Given the description of an element on the screen output the (x, y) to click on. 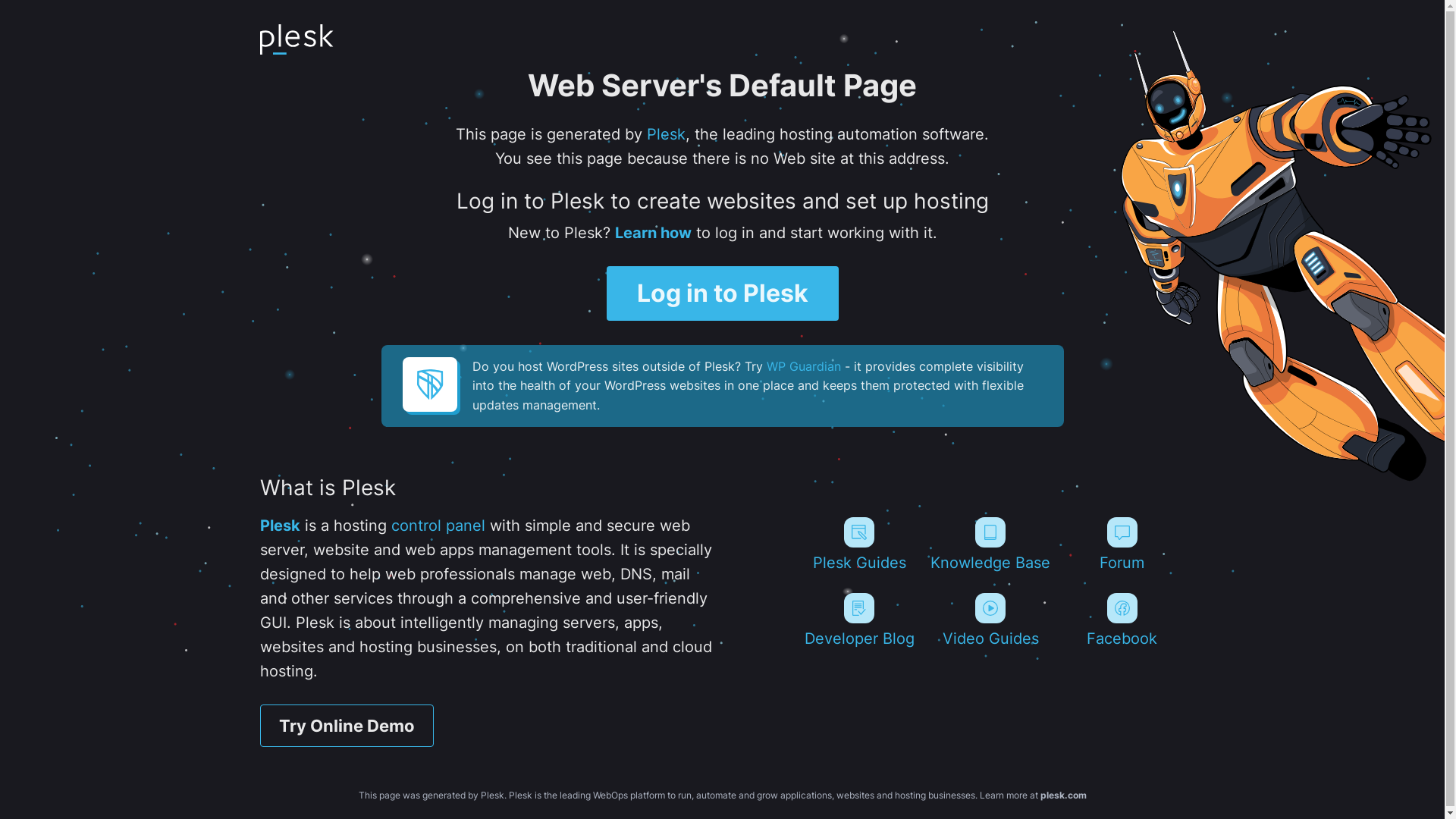
control panel Element type: text (438, 525)
Plesk Guides Element type: text (858, 544)
Forum Element type: text (1121, 544)
Knowledge Base Element type: text (990, 544)
Learn how Element type: text (652, 232)
Plesk Element type: text (665, 134)
WP Guardian Element type: text (802, 365)
Log in to Plesk Element type: text (722, 293)
Video Guides Element type: text (990, 620)
Facebook Element type: text (1121, 620)
Try Online Demo Element type: text (346, 725)
plesk.com Element type: text (1063, 794)
Developer Blog Element type: text (858, 620)
Plesk Element type: text (279, 525)
